Given the description of an element on the screen output the (x, y) to click on. 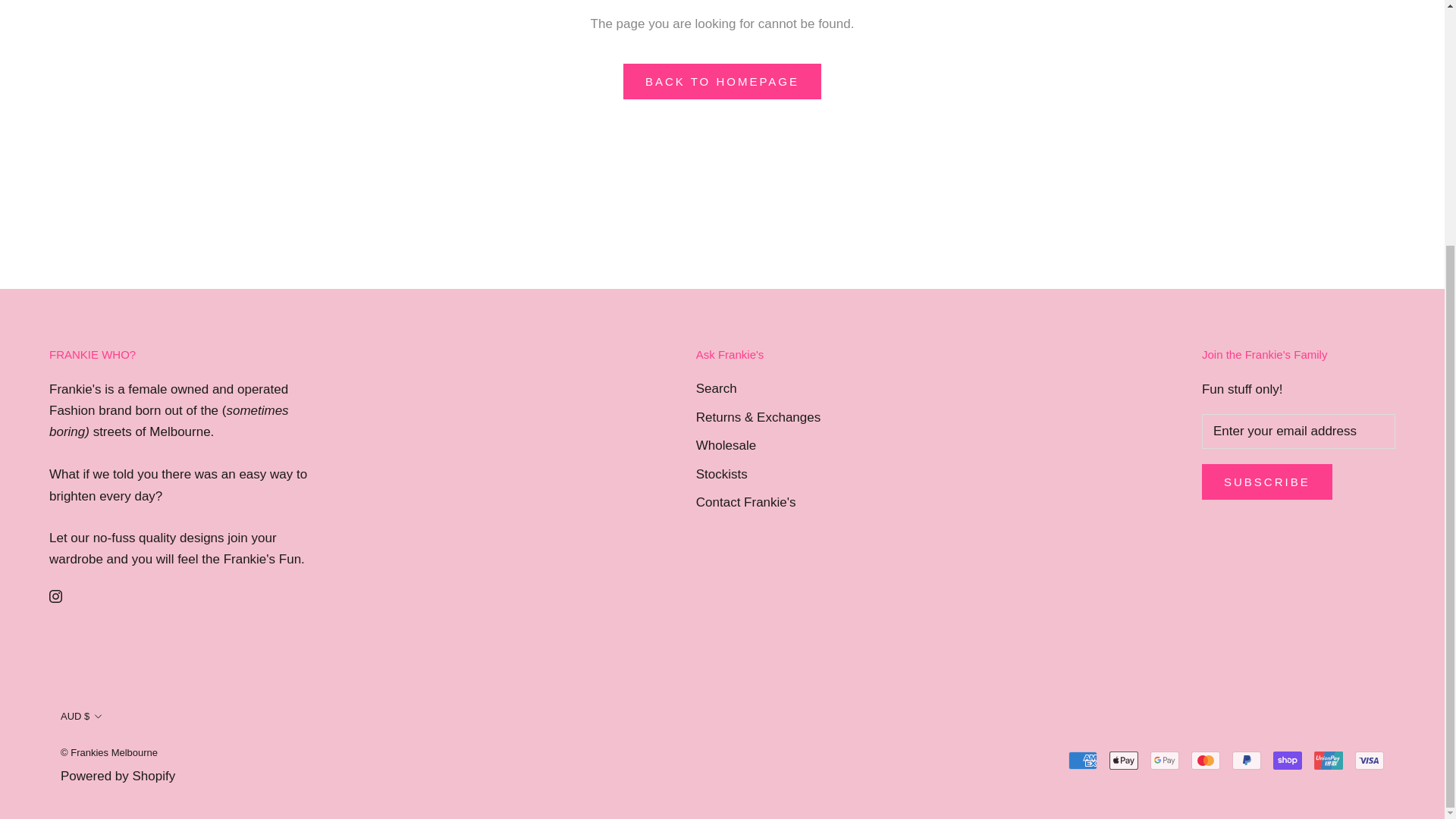
Shop Pay (1286, 760)
Union Pay (1328, 760)
American Express (1082, 760)
Visa (1369, 760)
Apple Pay (1123, 760)
Google Pay (1164, 760)
Mastercard (1205, 760)
PayPal (1245, 760)
